Given the description of an element on the screen output the (x, y) to click on. 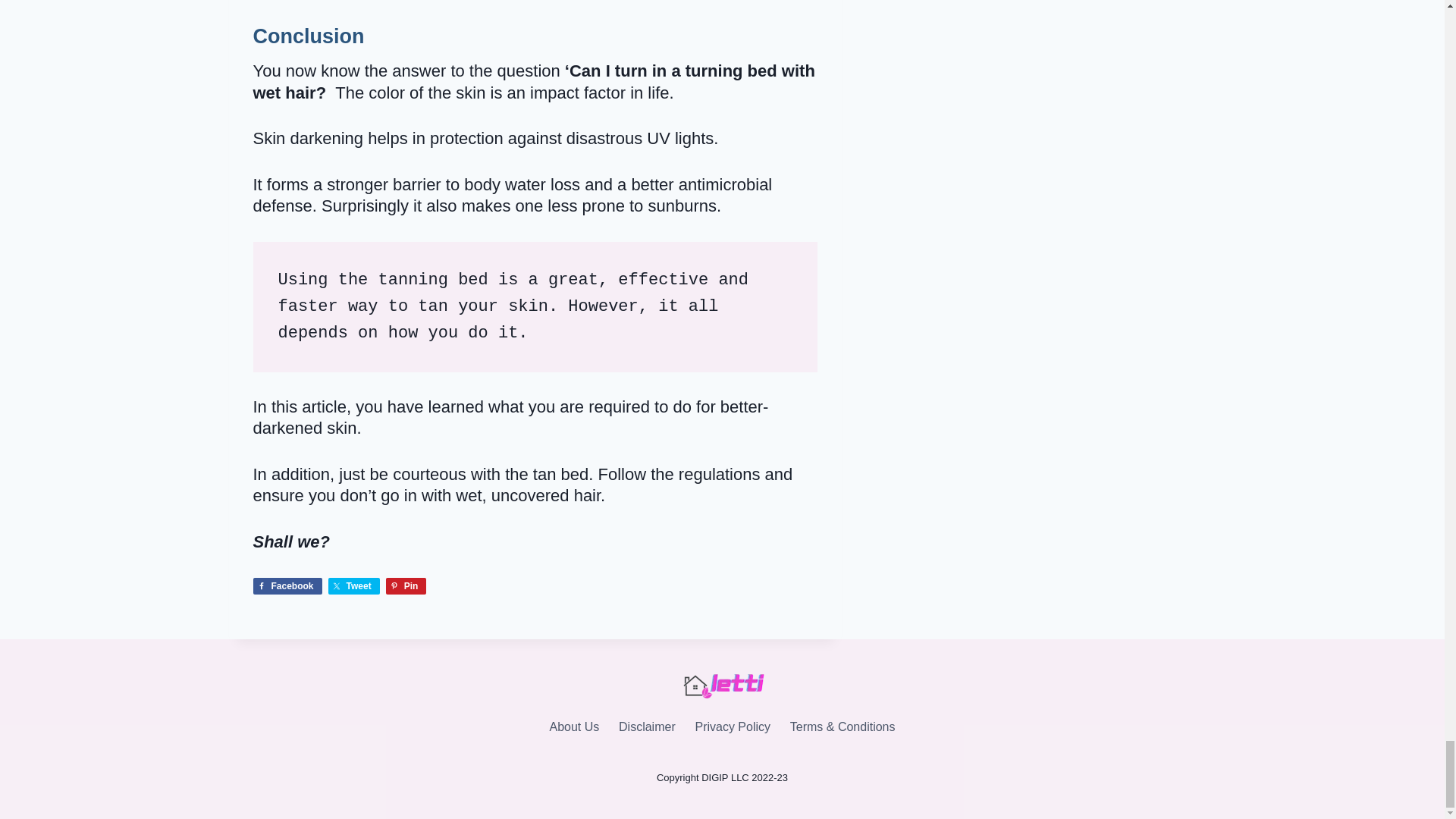
Share on Twitter (354, 586)
Share on Pinterest (405, 586)
Share on Facebook (287, 586)
